Given the description of an element on the screen output the (x, y) to click on. 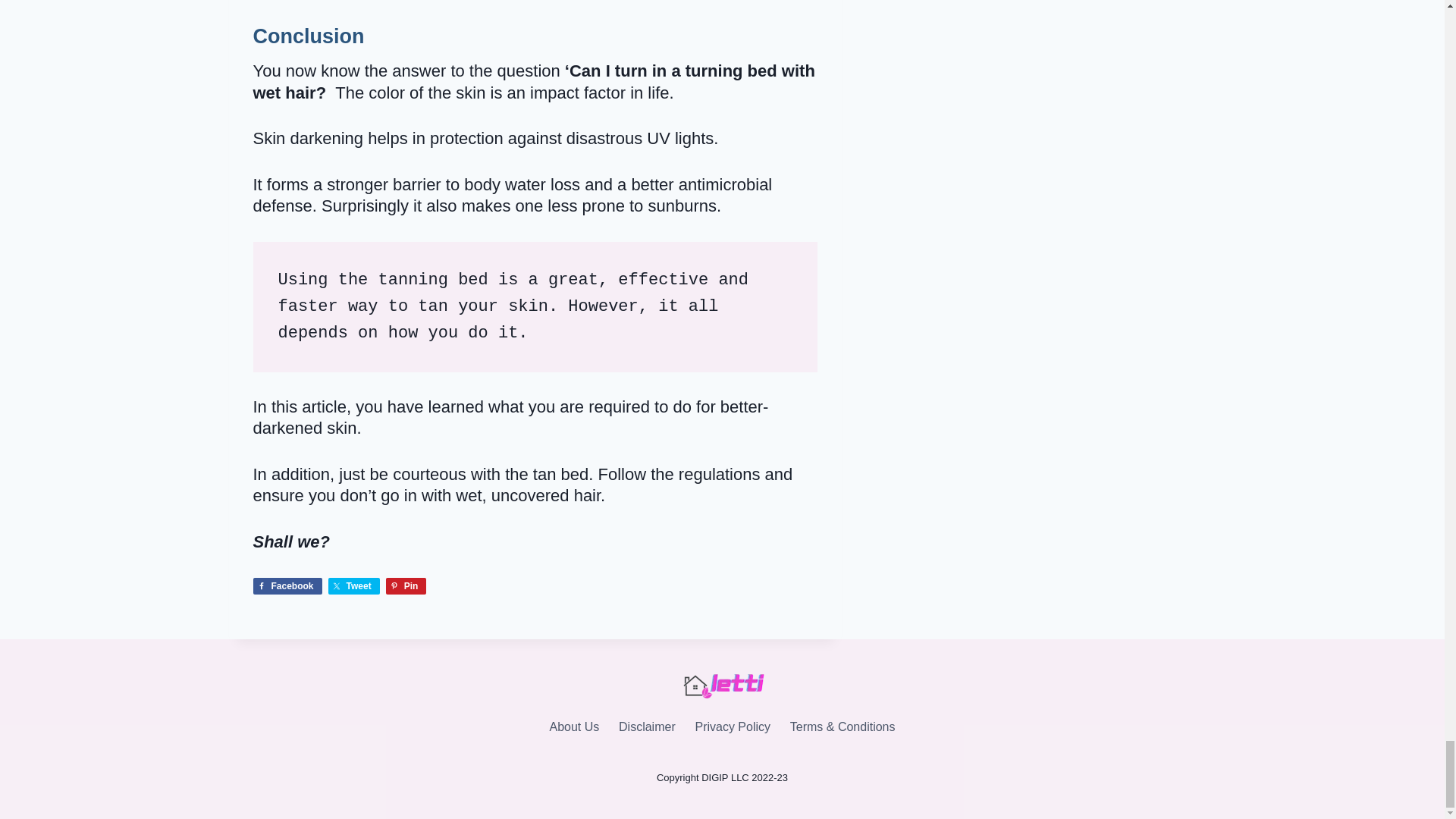
Share on Twitter (354, 586)
Share on Pinterest (405, 586)
Share on Facebook (287, 586)
